Given the description of an element on the screen output the (x, y) to click on. 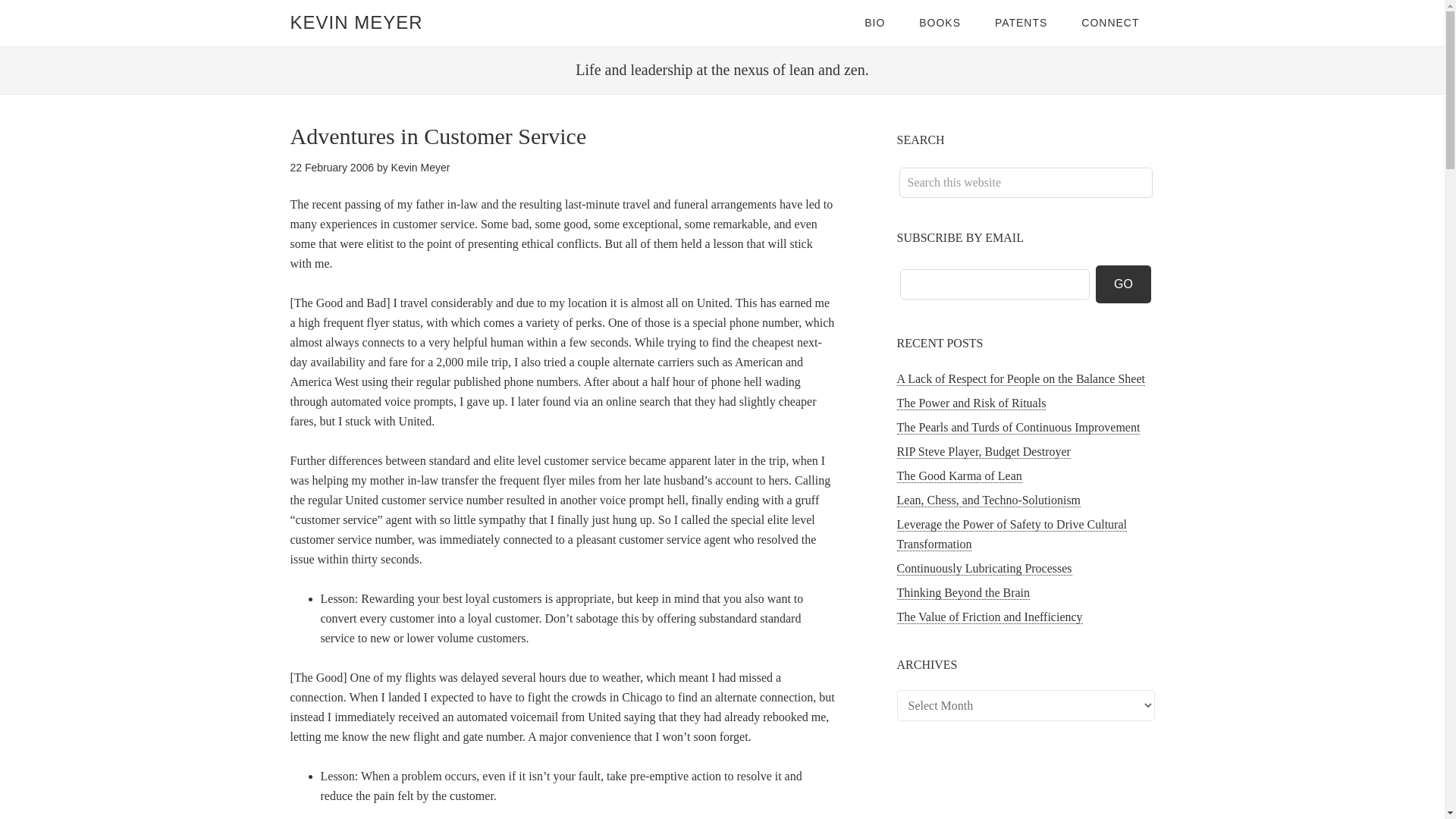
Continuously Lubricating Processes (983, 568)
RIP Steve Player, Budget Destroyer (983, 451)
Go (1123, 284)
A Lack of Respect for People on the Balance Sheet (1020, 378)
CONNECT (1109, 22)
The Good Karma of Lean (959, 476)
PATENTS (1020, 22)
KEVIN MEYER (355, 22)
BIO (873, 22)
Thinking Beyond the Brain (962, 592)
Kevin Meyer (420, 167)
The Value of Friction and Inefficiency (988, 617)
Go (1123, 284)
The Power and Risk of Rituals (970, 403)
